Given the description of an element on the screen output the (x, y) to click on. 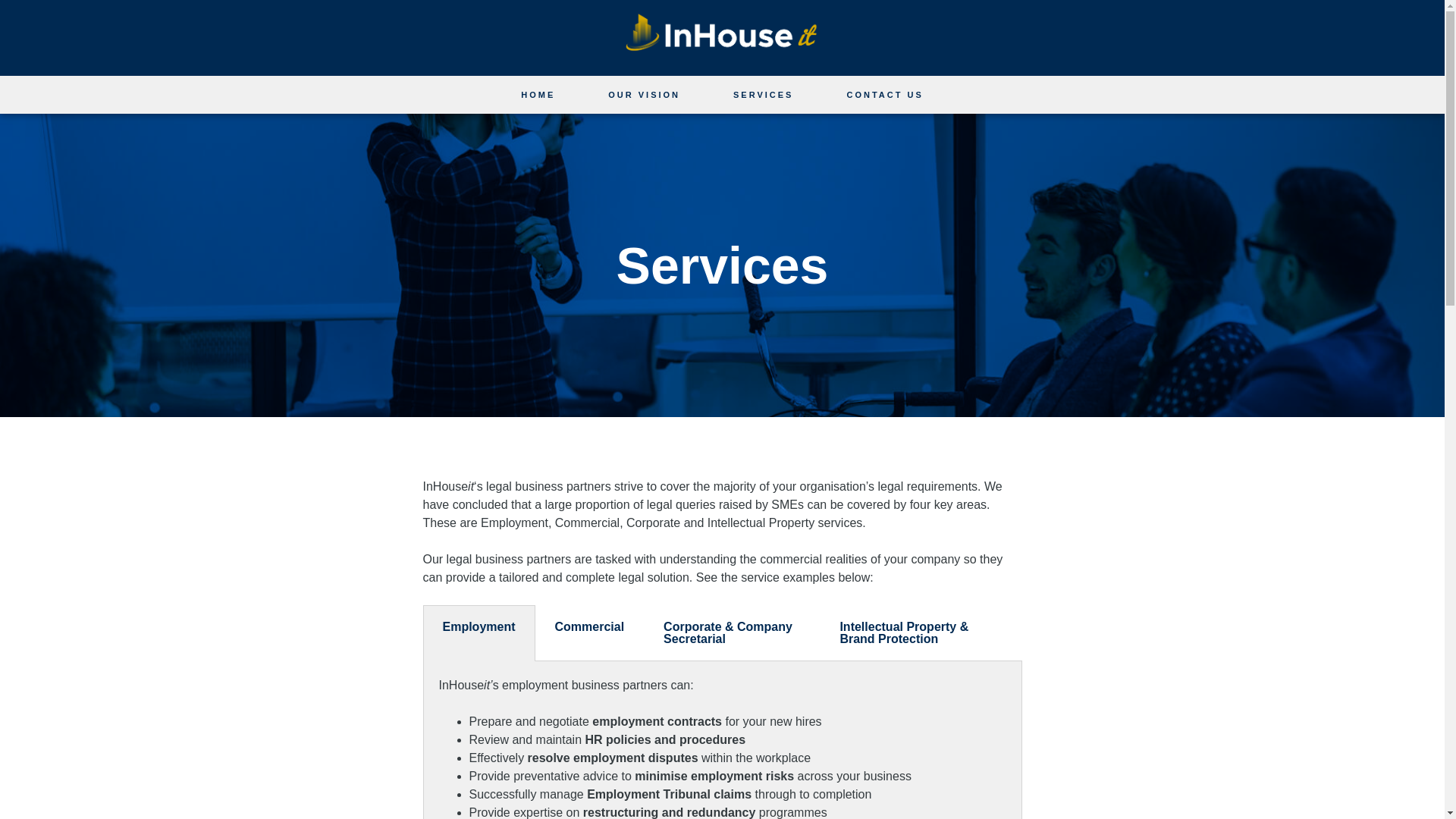
CONTACT US (884, 94)
HOME (537, 94)
SERVICES (762, 94)
OUR VISION (644, 94)
